Given the description of an element on the screen output the (x, y) to click on. 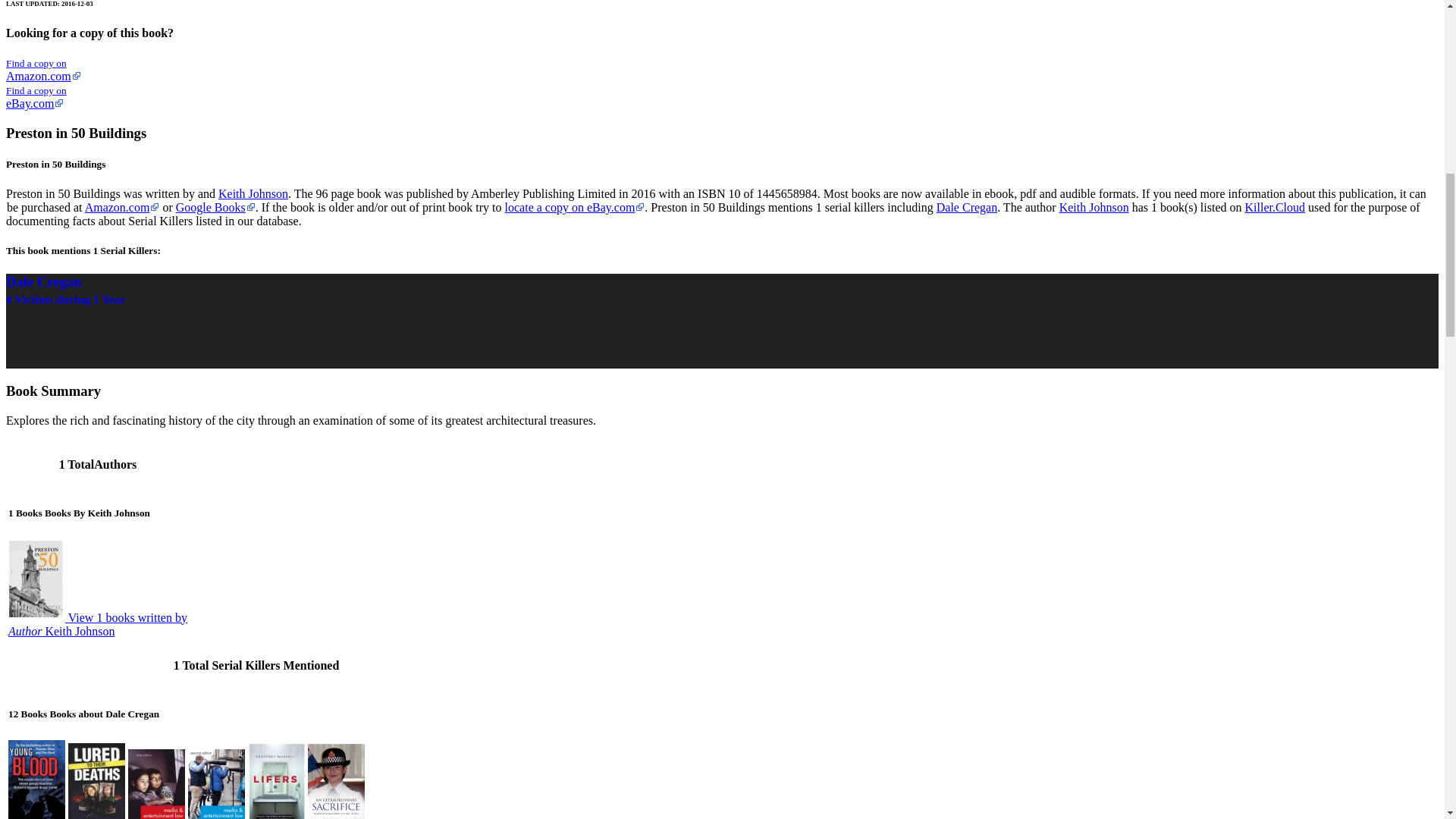
Keith Johnson (43, 69)
Keith Johnson (253, 193)
locate a copy on eBay.com (1094, 206)
Google Books (575, 206)
Killer.Cloud (216, 206)
Dale Cregan (97, 624)
Amazon.com (1275, 206)
